Given the description of an element on the screen output the (x, y) to click on. 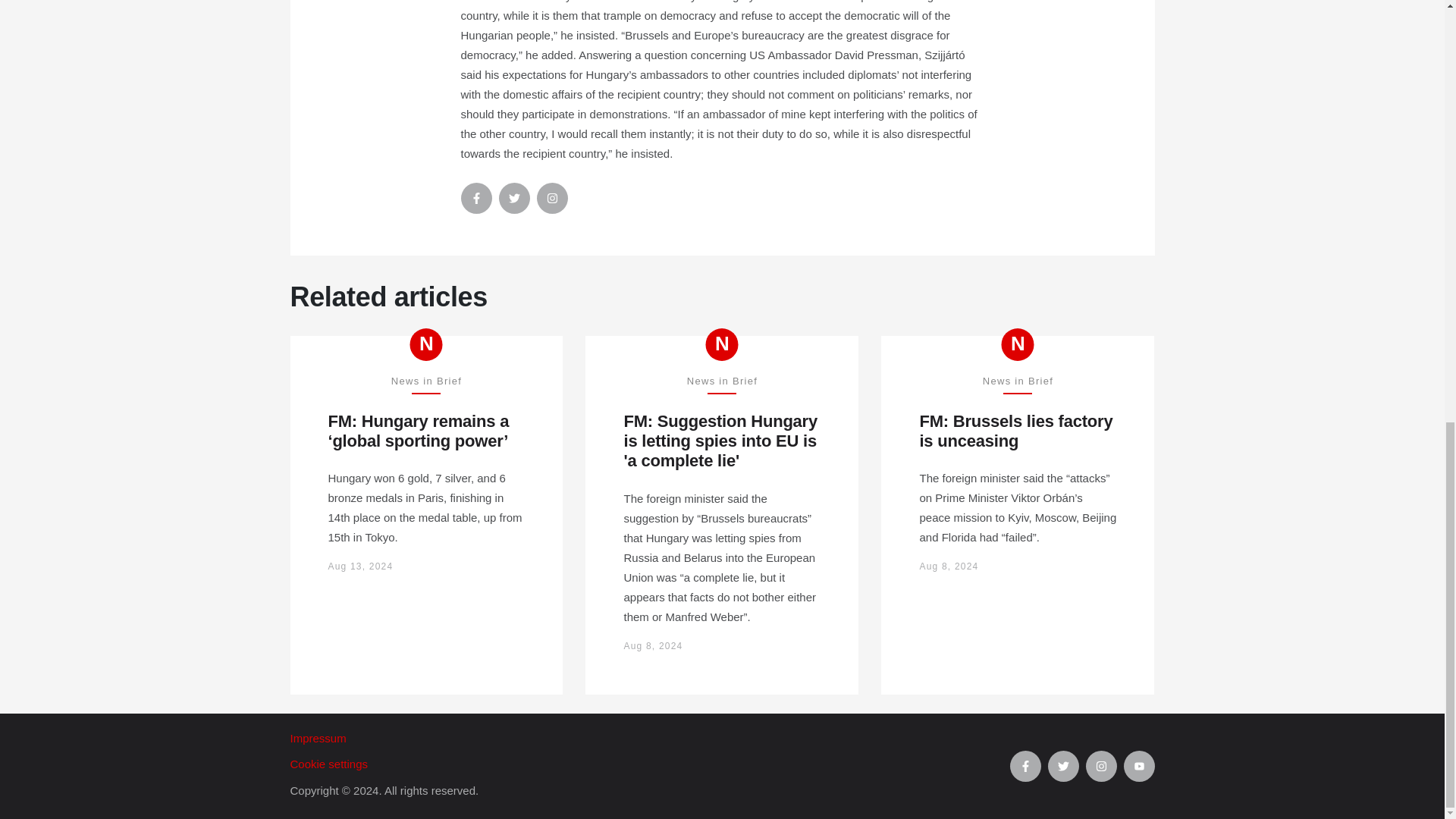
Facebook icon (476, 197)
N (1017, 344)
N (426, 344)
News in Brief (426, 344)
Cookie settings (649, 764)
Impressum (649, 738)
Twitter- icon (514, 197)
Instagram icon (552, 197)
